Given the description of an element on the screen output the (x, y) to click on. 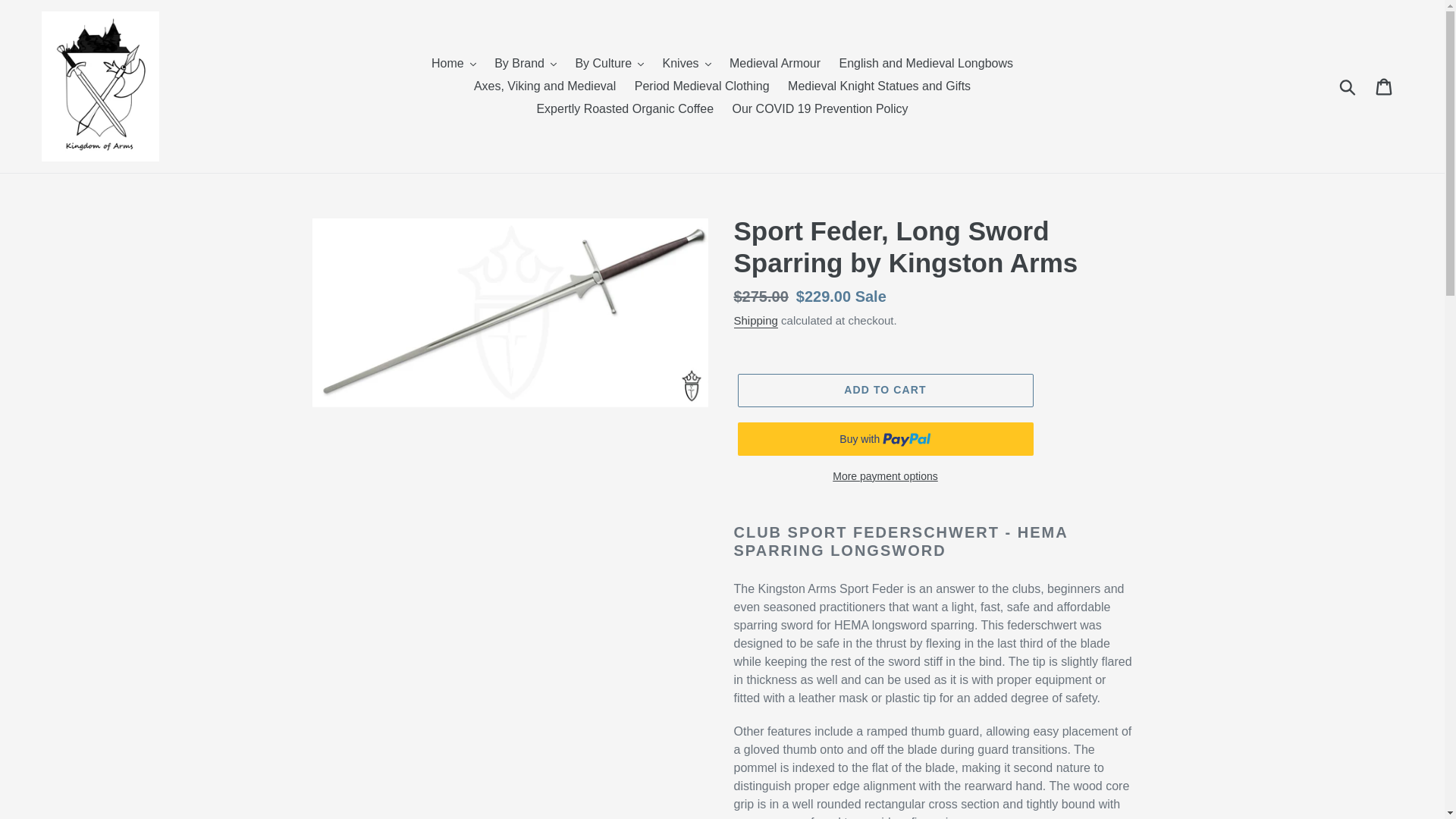
Medieval Armour (775, 63)
Axes, Viking and Medieval (544, 86)
Medieval Knight Statues and Gifts (879, 86)
Expertly Roasted Organic Coffee (624, 108)
English and Medieval Longbows (925, 63)
Period Medieval Clothing (702, 86)
Submit (1348, 86)
Our COVID 19 Prevention Policy (819, 108)
Cart (1385, 86)
